Given the description of an element on the screen output the (x, y) to click on. 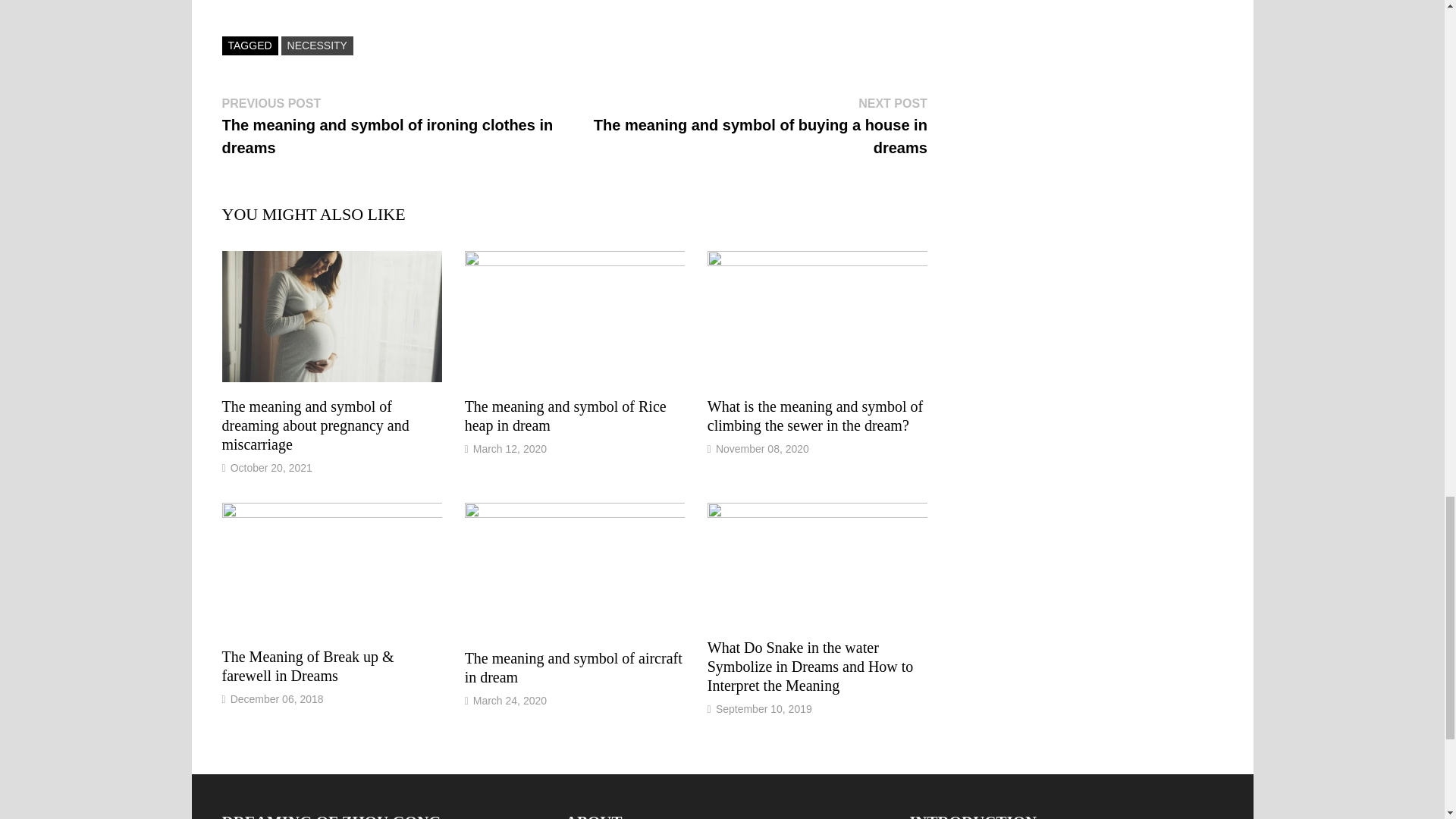
The meaning and symbol of Rice heap in dream (565, 416)
The meaning and symbol of aircraft in dream (573, 667)
The meaning and symbol of aircraft in dream (573, 667)
The meaning and symbol of Rice heap in dream (565, 416)
October 20, 2021 (271, 467)
